Given the description of an element on the screen output the (x, y) to click on. 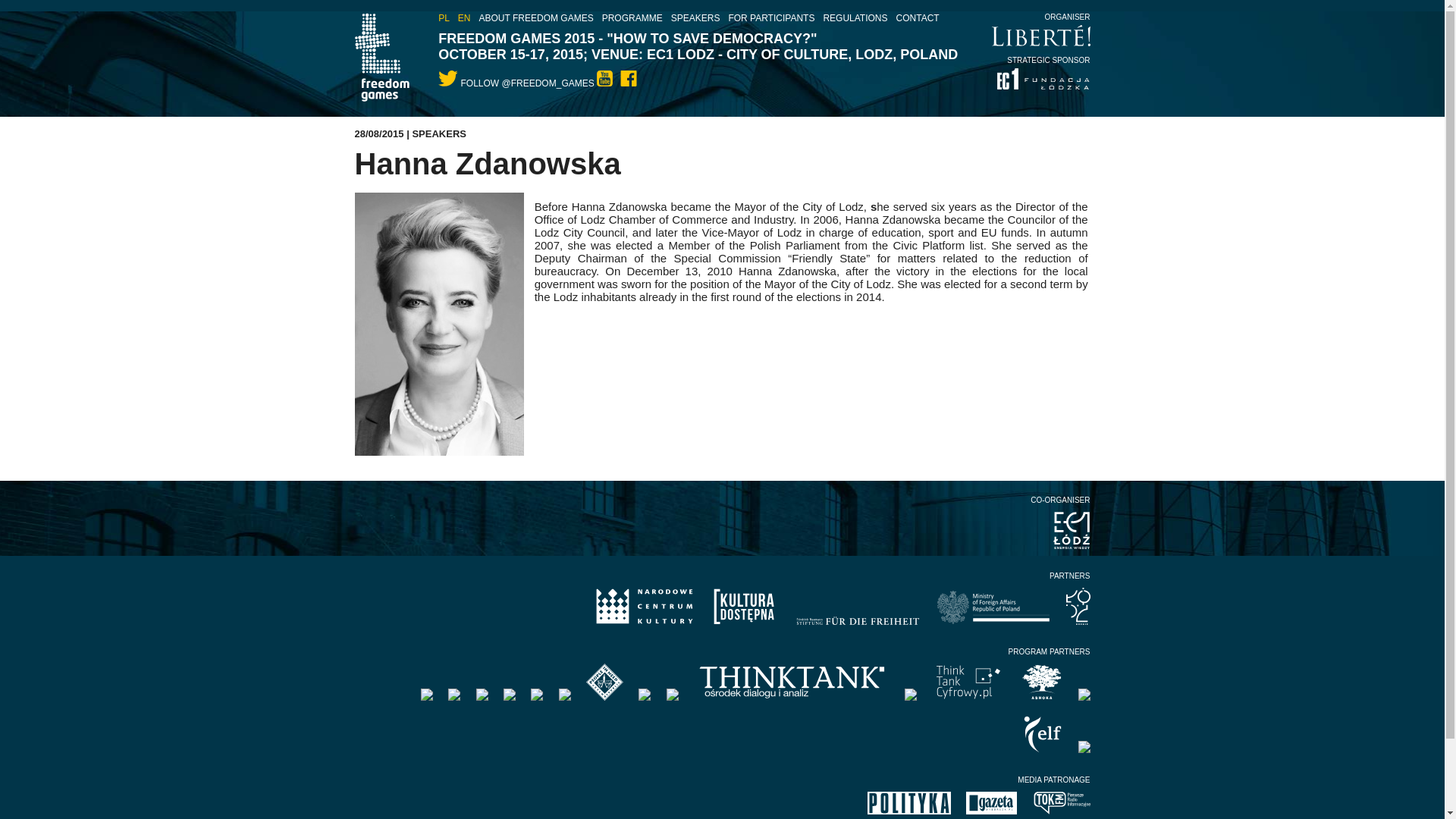
Polski (443, 18)
REGULATIONS (854, 18)
SPEAKERS (695, 18)
SPEAKERS (438, 133)
CONTACT (917, 18)
ABOUT FREEDOM GAMES (536, 18)
English (464, 18)
EN (464, 18)
PL (443, 18)
FOR PARTICIPANTS (770, 18)
